Given the description of an element on the screen output the (x, y) to click on. 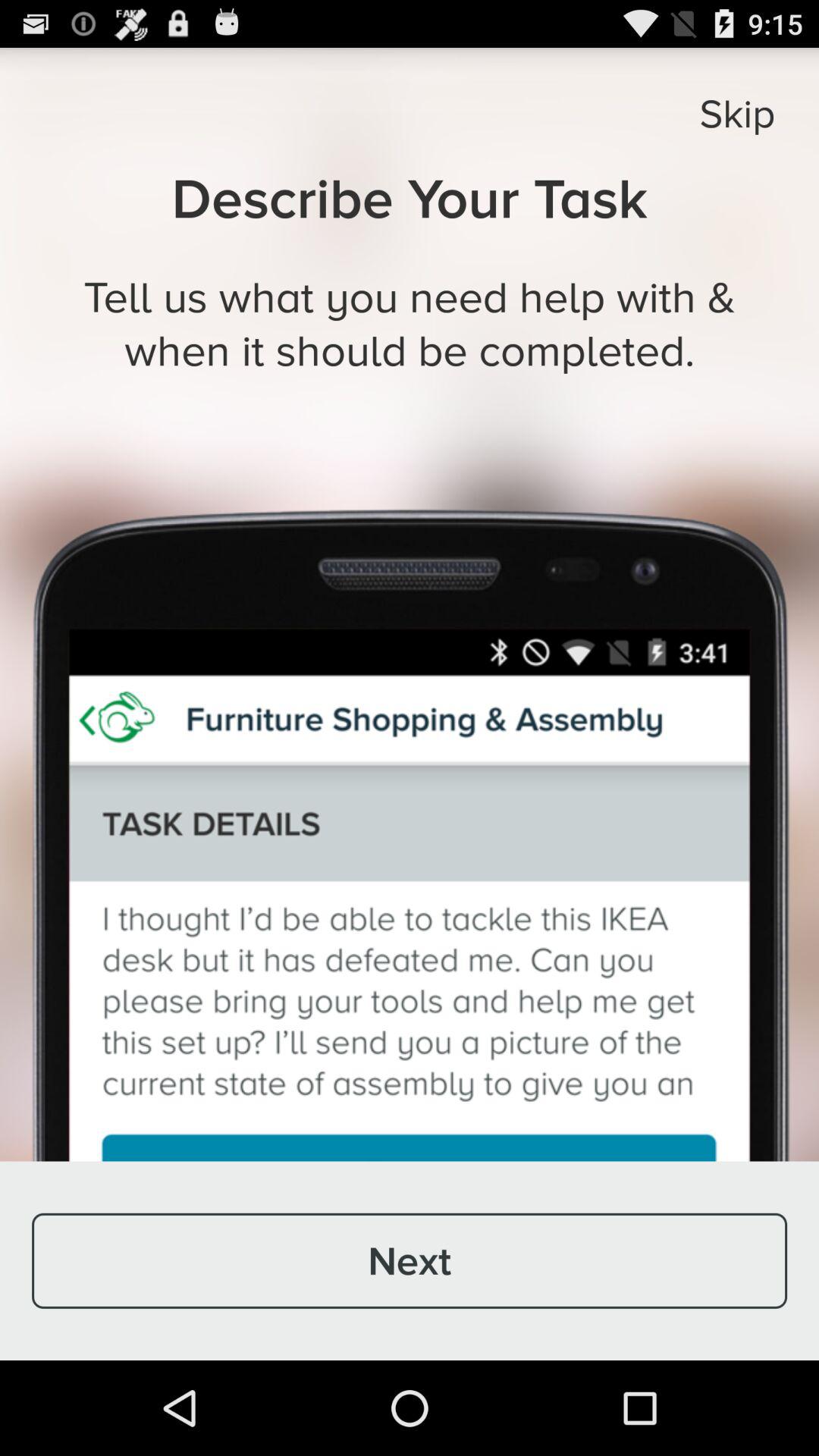
launch the item at the bottom (409, 1260)
